Given the description of an element on the screen output the (x, y) to click on. 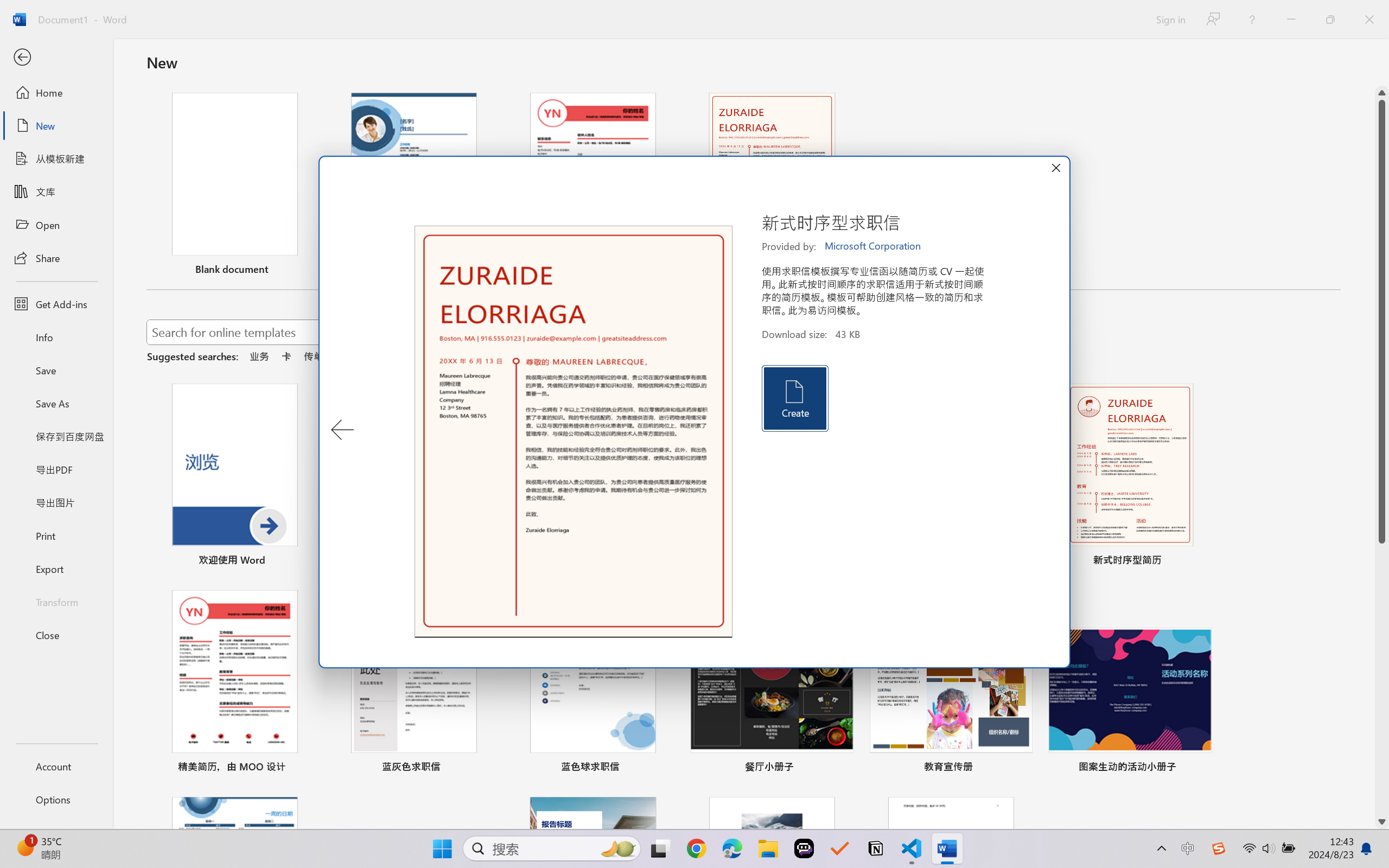
Create (794, 398)
Print (56, 535)
Options (56, 798)
Microsoft Corporation (873, 246)
Page down (1382, 679)
